Given the description of an element on the screen output the (x, y) to click on. 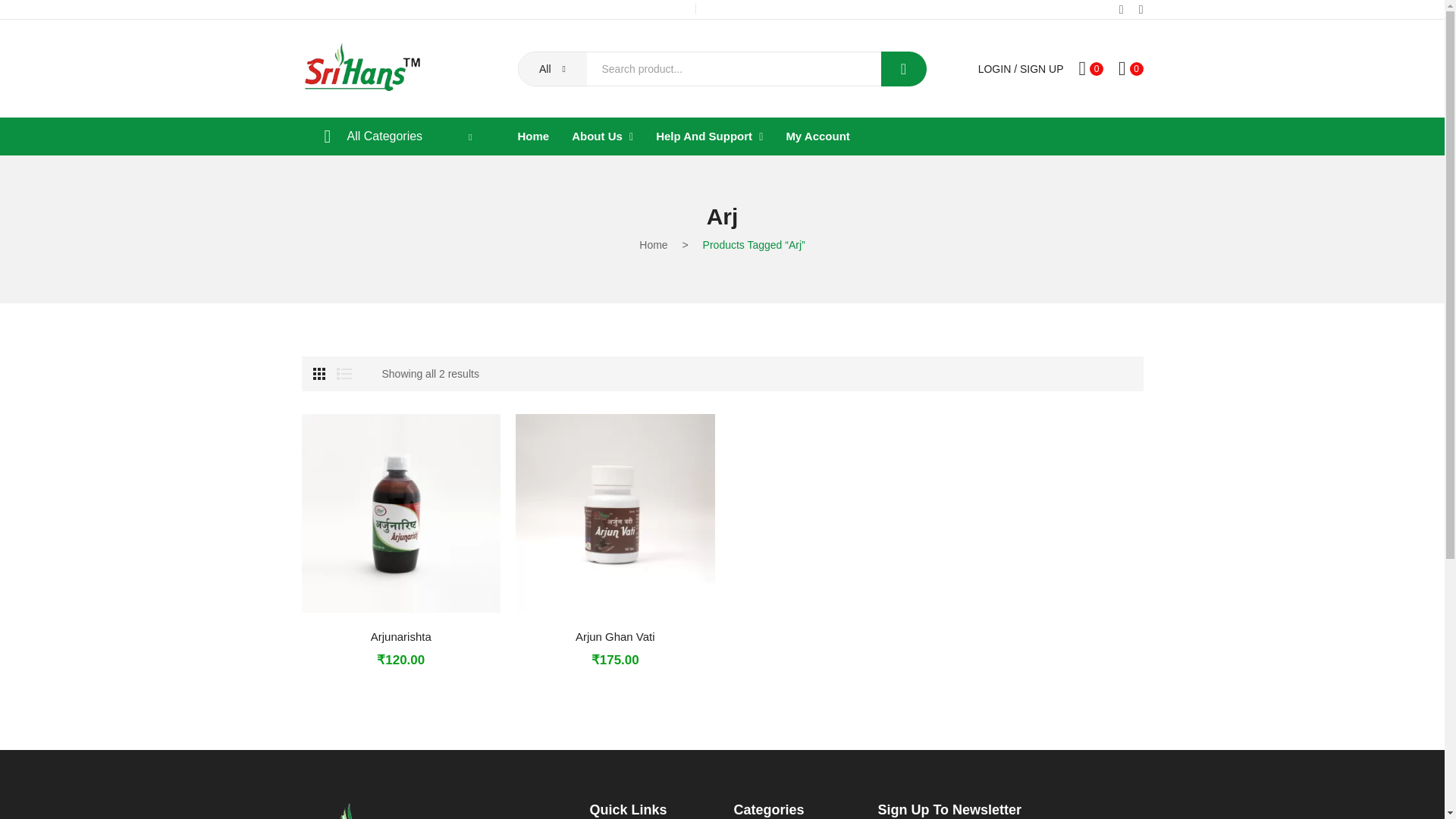
0 (1130, 68)
0 (1090, 68)
Home (532, 136)
SIGN UP (1042, 69)
List (344, 373)
LOGIN (994, 69)
Search (903, 68)
HansHerbals (362, 67)
Instagram (1140, 9)
Grid (318, 373)
Facebook (1121, 9)
Login (994, 69)
